Given the description of an element on the screen output the (x, y) to click on. 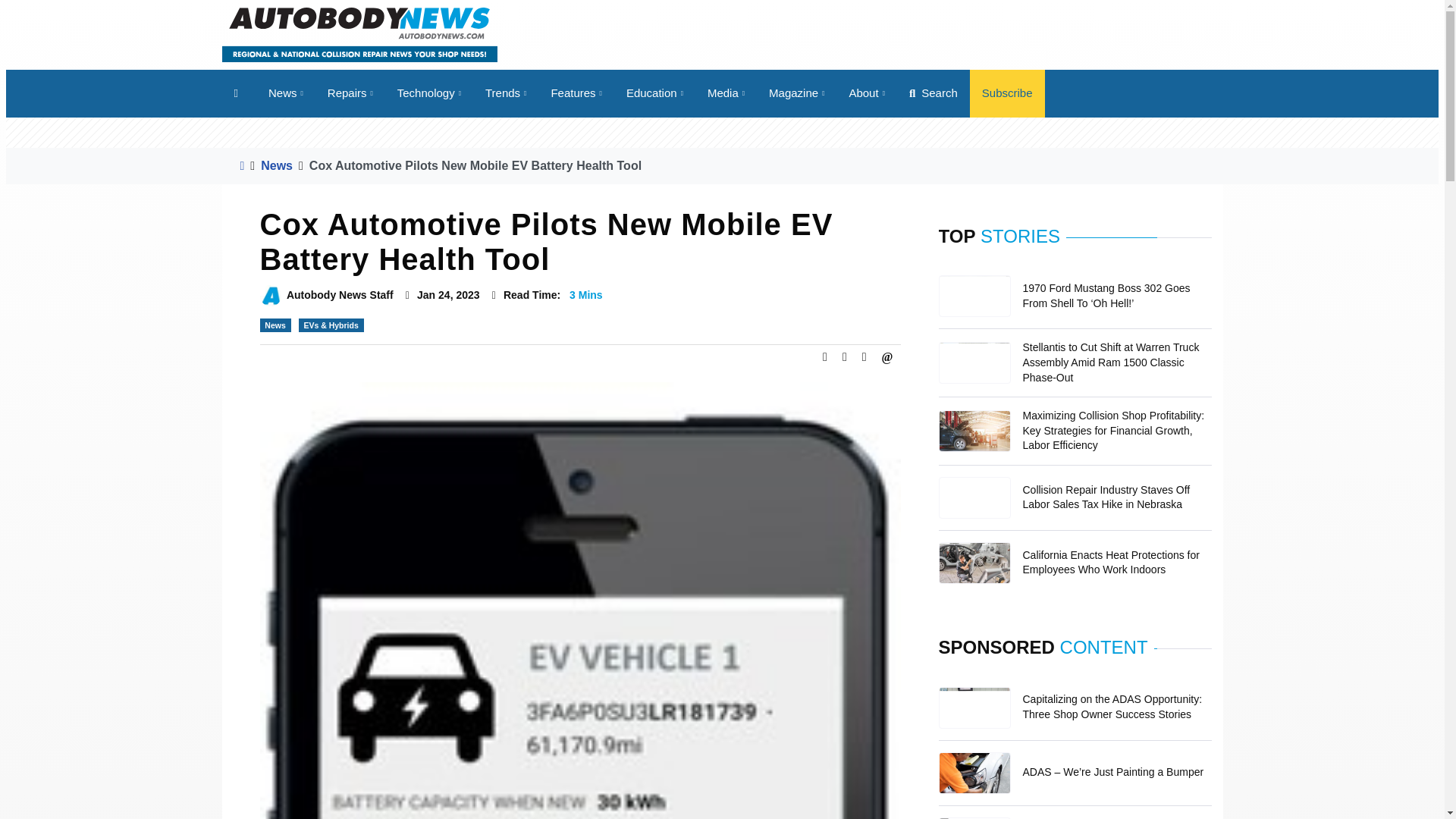
Autobody News (358, 33)
Trends (505, 93)
Technology (429, 93)
News (285, 93)
Repairs (350, 93)
Features (576, 93)
